Given the description of an element on the screen output the (x, y) to click on. 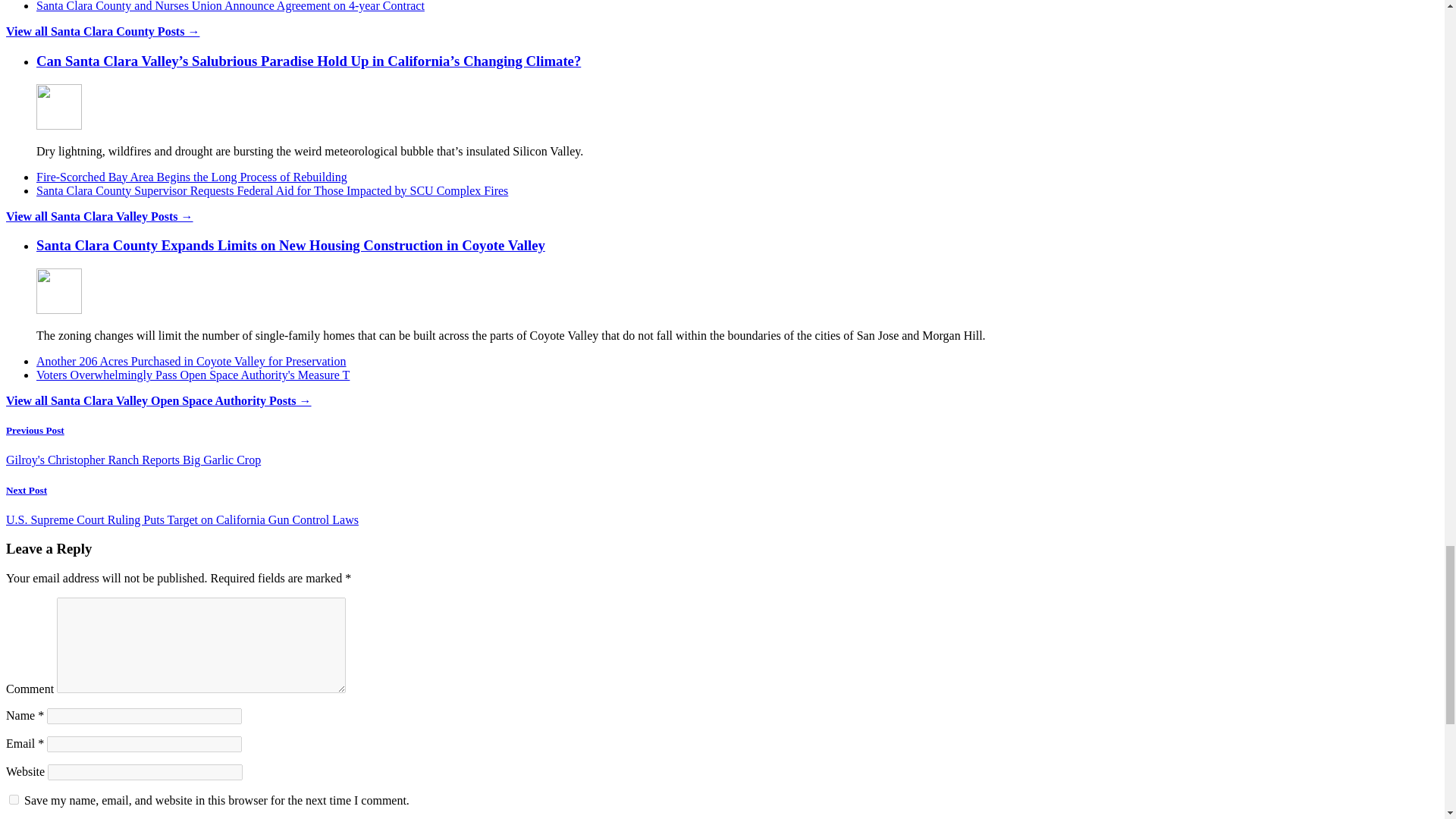
yes (13, 799)
